Given the description of an element on the screen output the (x, y) to click on. 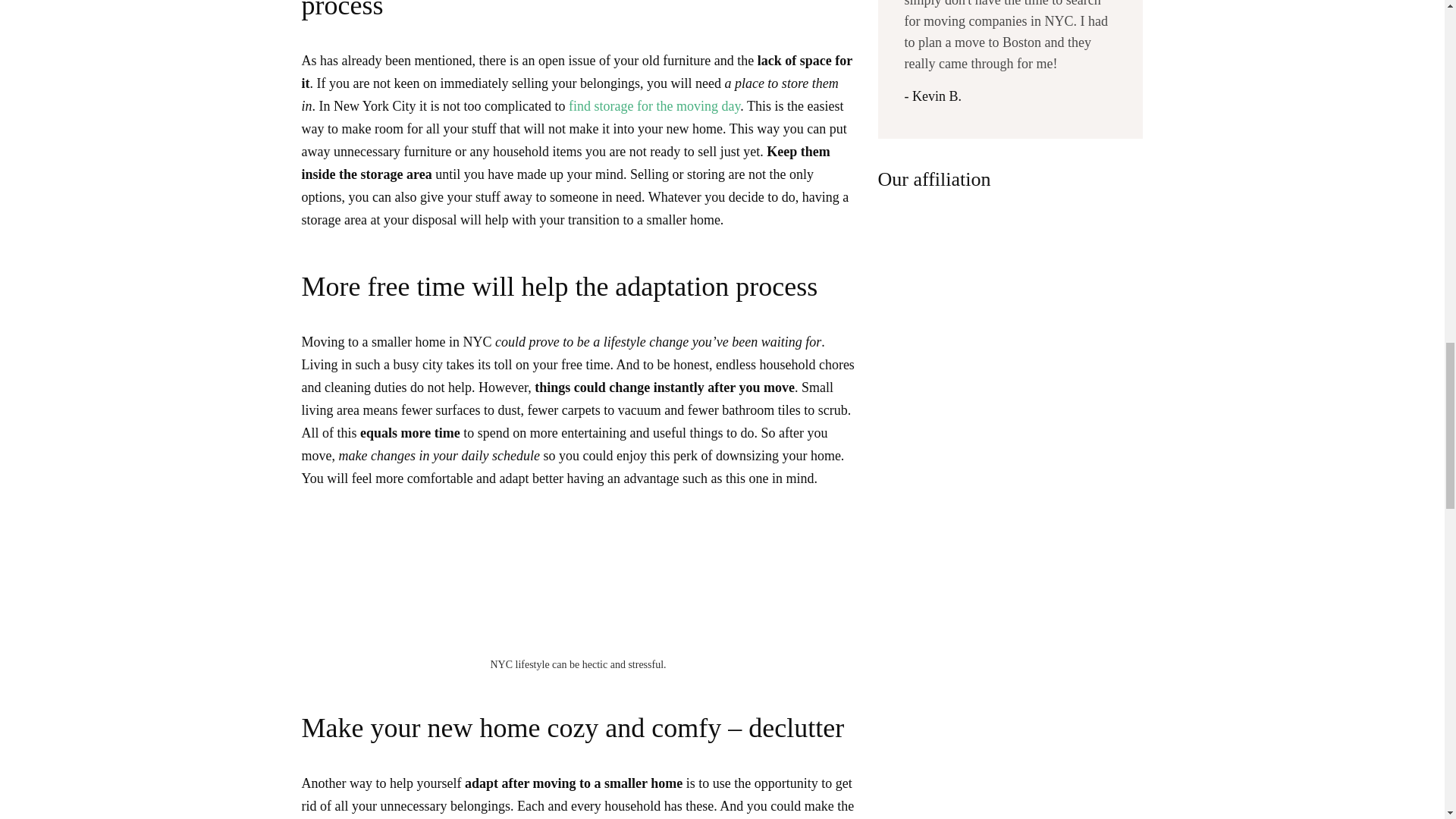
find storage for the moving day (654, 105)
